Given the description of an element on the screen output the (x, y) to click on. 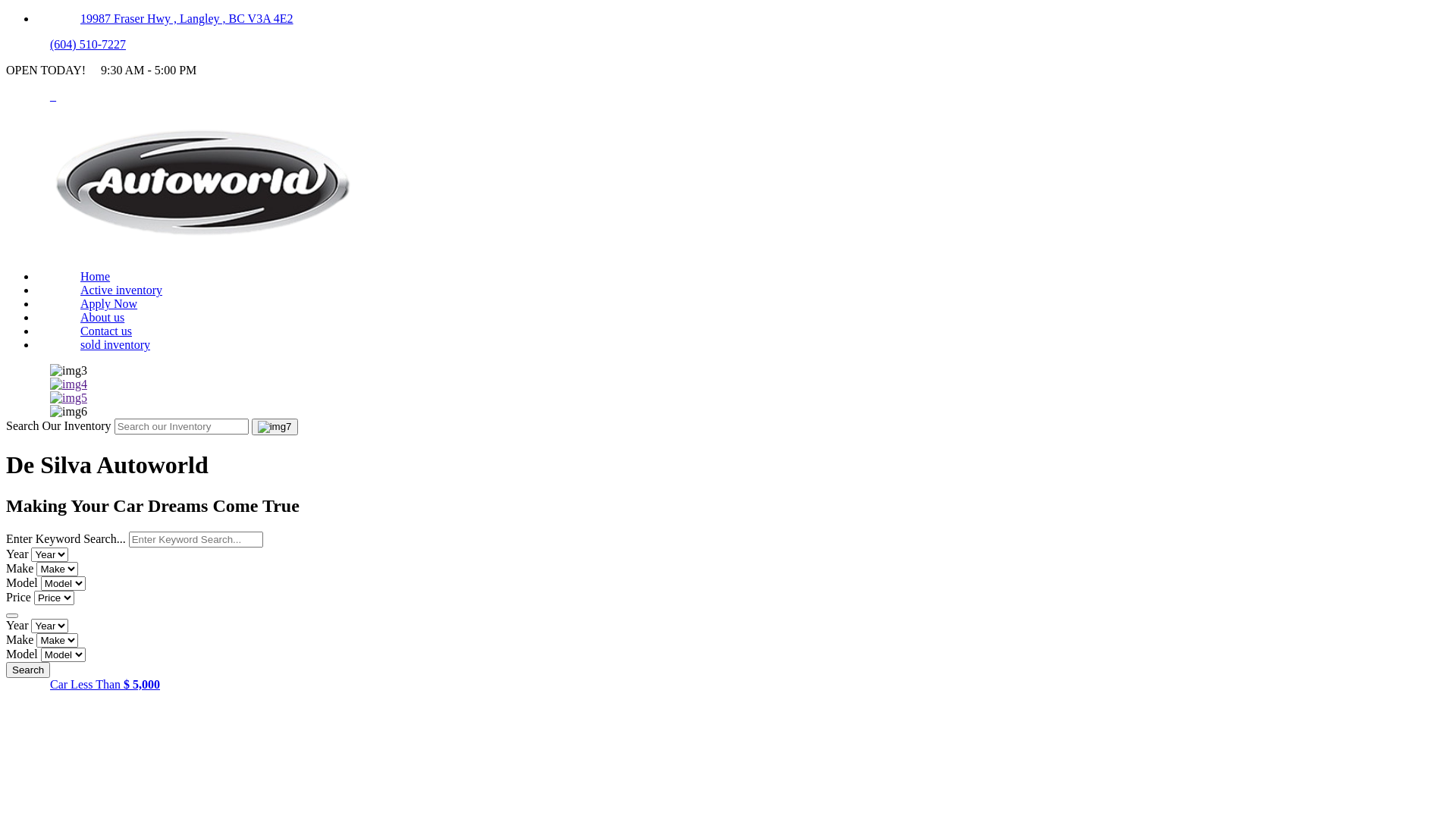
_ Element type: text (53, 95)
About us Element type: text (102, 317)
Contact us Element type: text (105, 330)
sold inventory Element type: text (115, 344)
Active inventory Element type: text (121, 289)
Home Element type: text (94, 276)
(604) 510-7227 Element type: text (87, 44)
Search Element type: text (28, 669)
Home Element type: hover (205, 250)
Car Less Than $ 5,000 Element type: text (104, 684)
Apply Now Element type: text (108, 303)
